Given the description of an element on the screen output the (x, y) to click on. 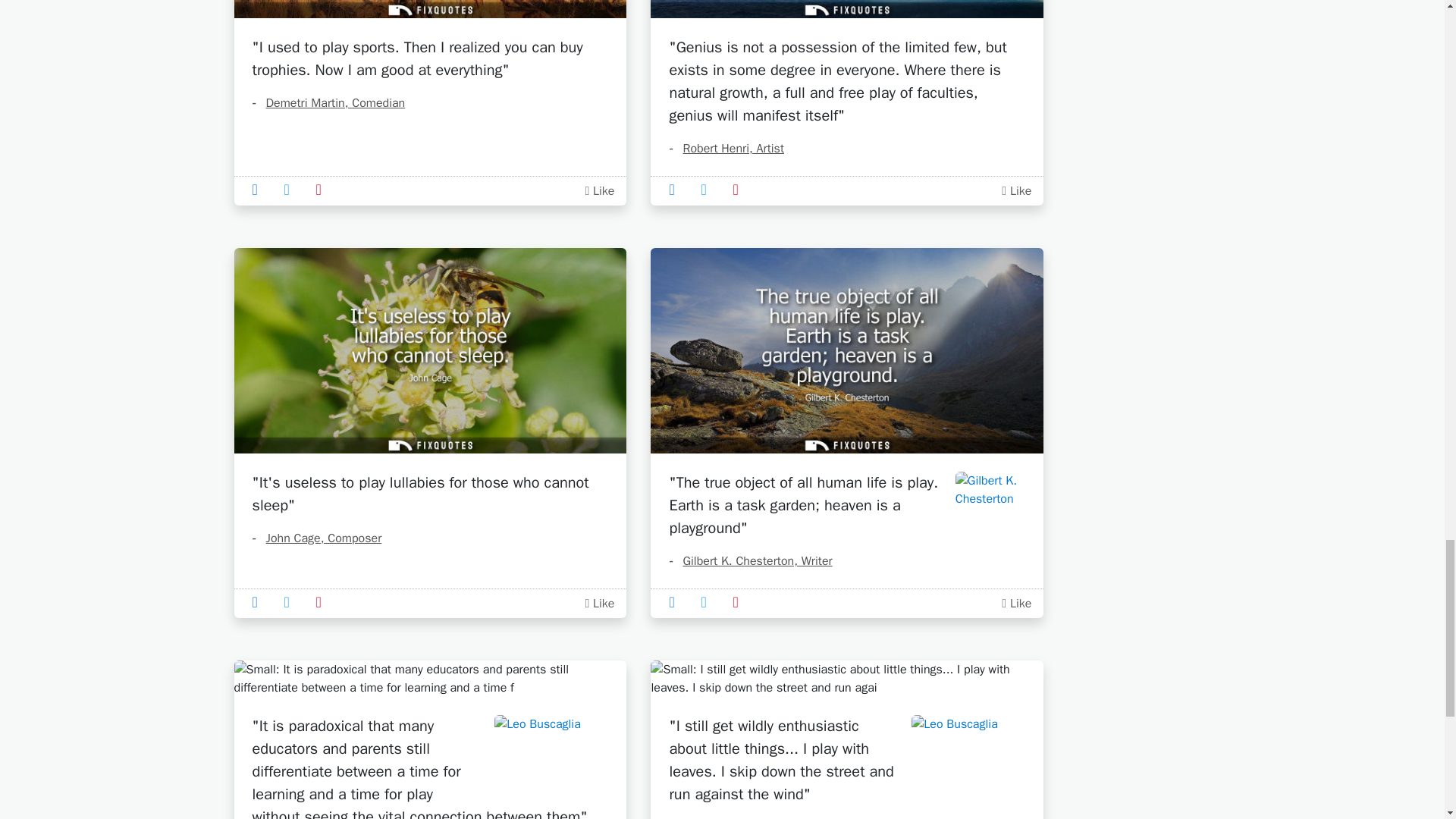
Share on Pinterest (322, 189)
Demetri Martin, Comedian (327, 102)
Share on Facebook (258, 189)
Share on Twitter (290, 189)
Robert Henri, Artist (726, 148)
John Cage, Composer (316, 538)
Gilbert K. Chesterton, Writer (749, 560)
